Given the description of an element on the screen output the (x, y) to click on. 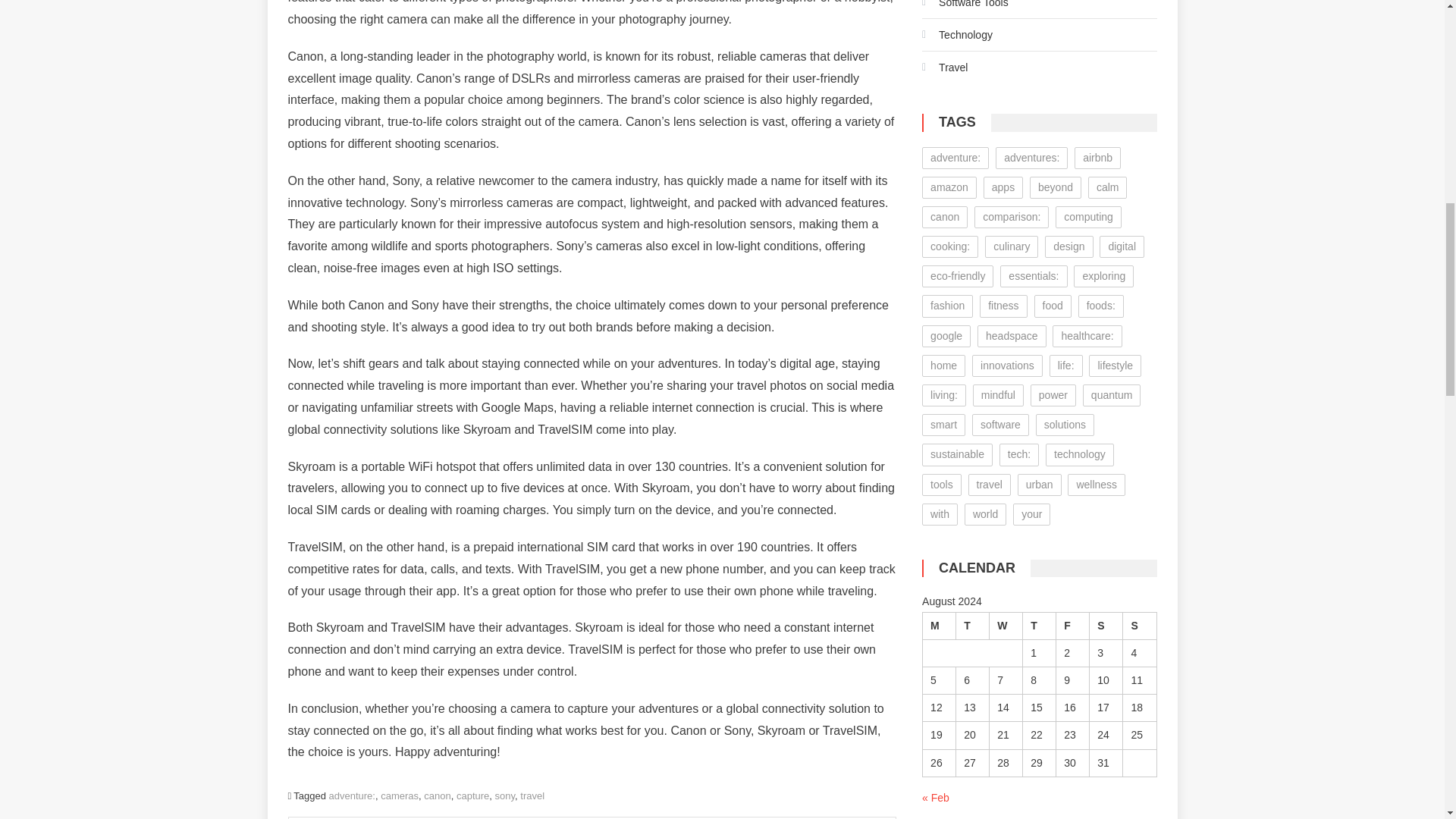
cameras (399, 795)
Tuesday (973, 625)
travel (531, 795)
sony (505, 795)
capture (473, 795)
adventure: (352, 795)
Saturday (1105, 625)
Wednesday (1006, 625)
Friday (1073, 625)
Sunday (1139, 625)
canon (436, 795)
Monday (939, 625)
Thursday (1040, 625)
